Given the description of an element on the screen output the (x, y) to click on. 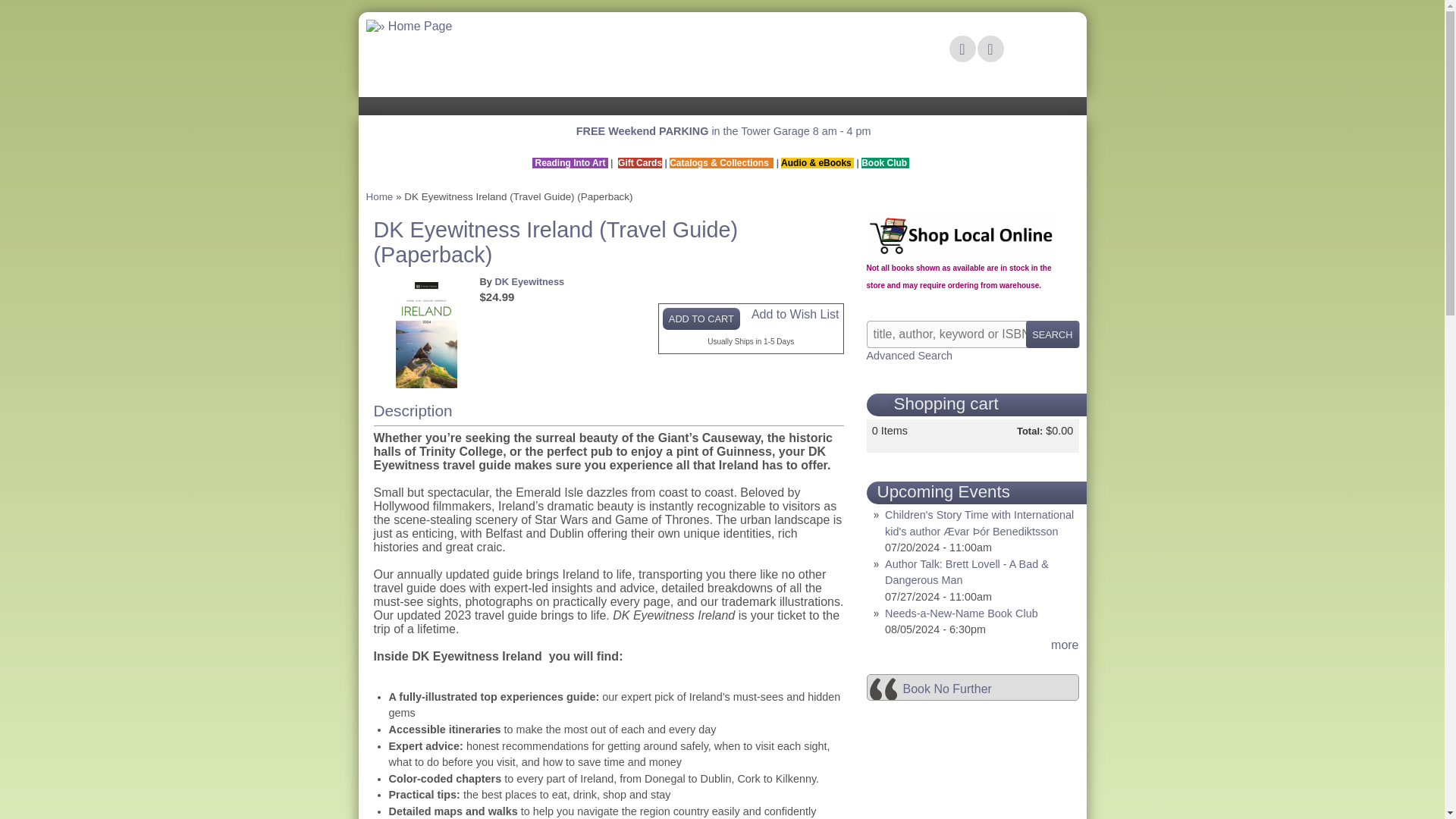
Enter the terms you wish to search for. (972, 334)
Add to Cart (700, 318)
Search (1052, 334)
View your shopping cart. (882, 401)
